Given the description of an element on the screen output the (x, y) to click on. 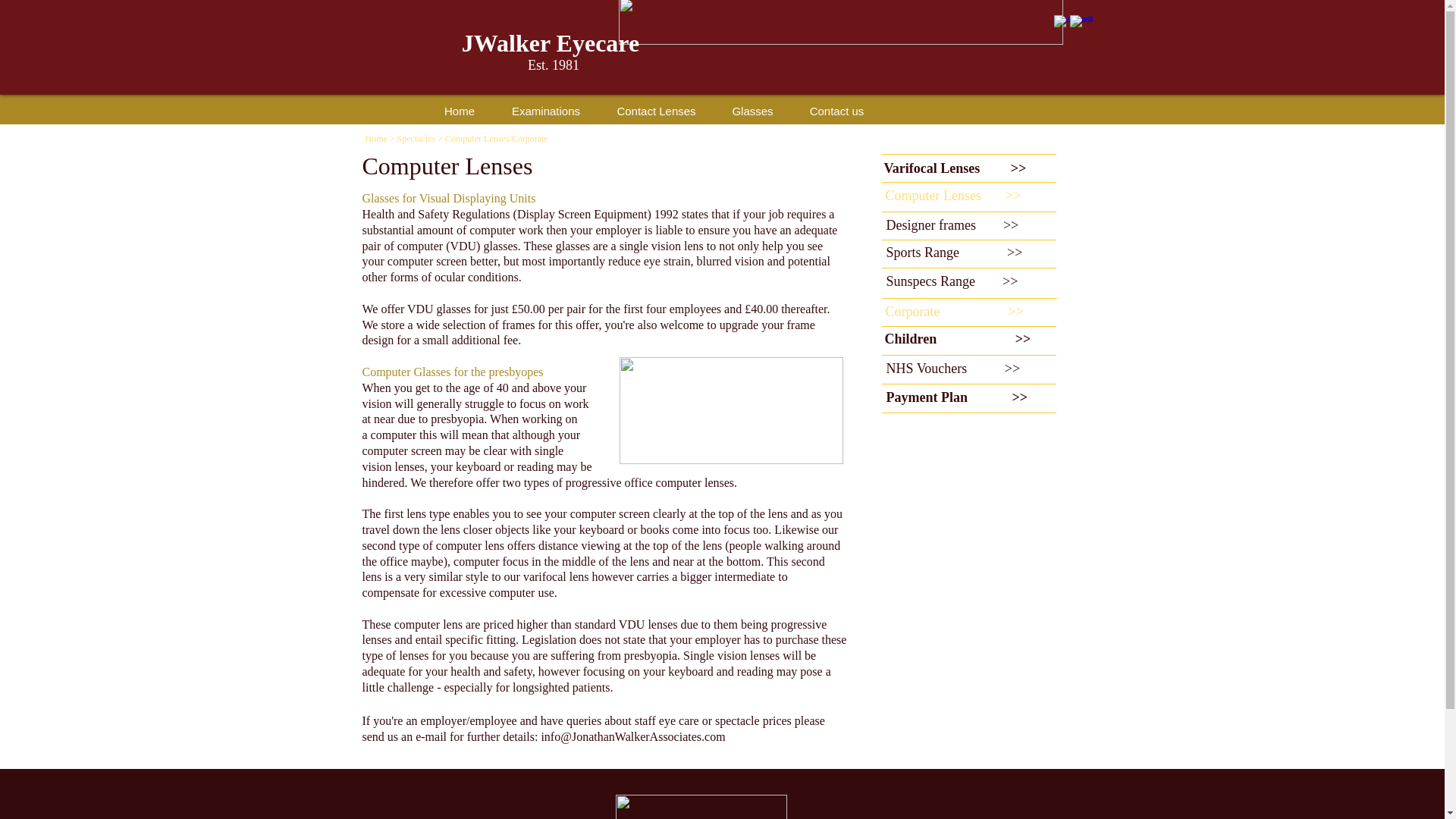
Contact us (837, 109)
Contact Lenses (656, 109)
Home (376, 138)
Examinations (545, 109)
Glasses (753, 109)
Spectacles (416, 138)
Home (459, 109)
eye care (678, 720)
JWalker Eyecare  (553, 42)
